Given the description of an element on the screen output the (x, y) to click on. 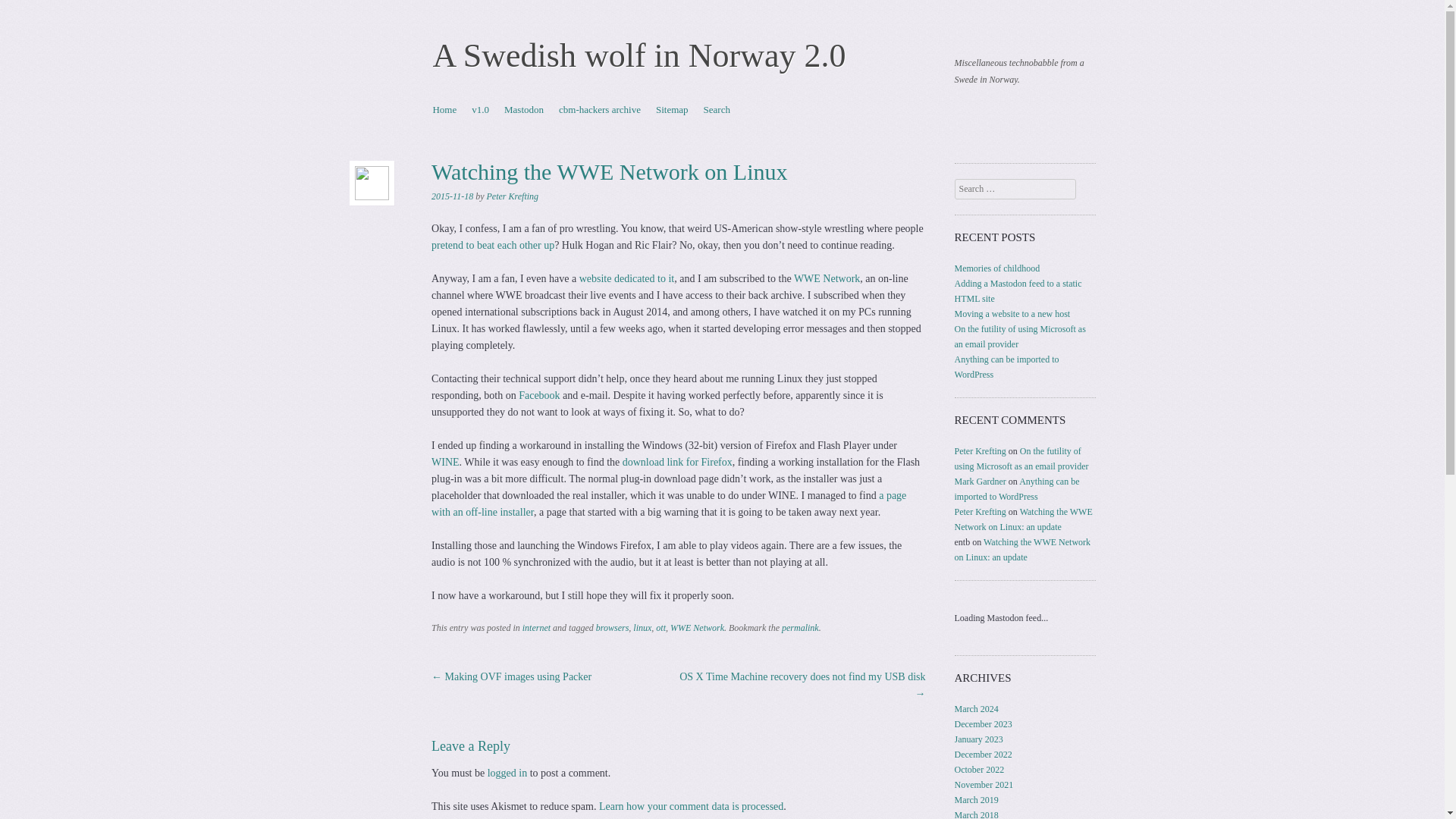
WWE Network (696, 627)
Peter Krefting (980, 511)
Memories of childhood (998, 267)
View all posts by Peter Krefting (512, 195)
Skip to content (462, 108)
Permalink to Watching the WWE Network on Linux (799, 627)
cbm-hackers archive (599, 108)
Search (32, 11)
ott (660, 627)
Home (444, 108)
